Given the description of an element on the screen output the (x, y) to click on. 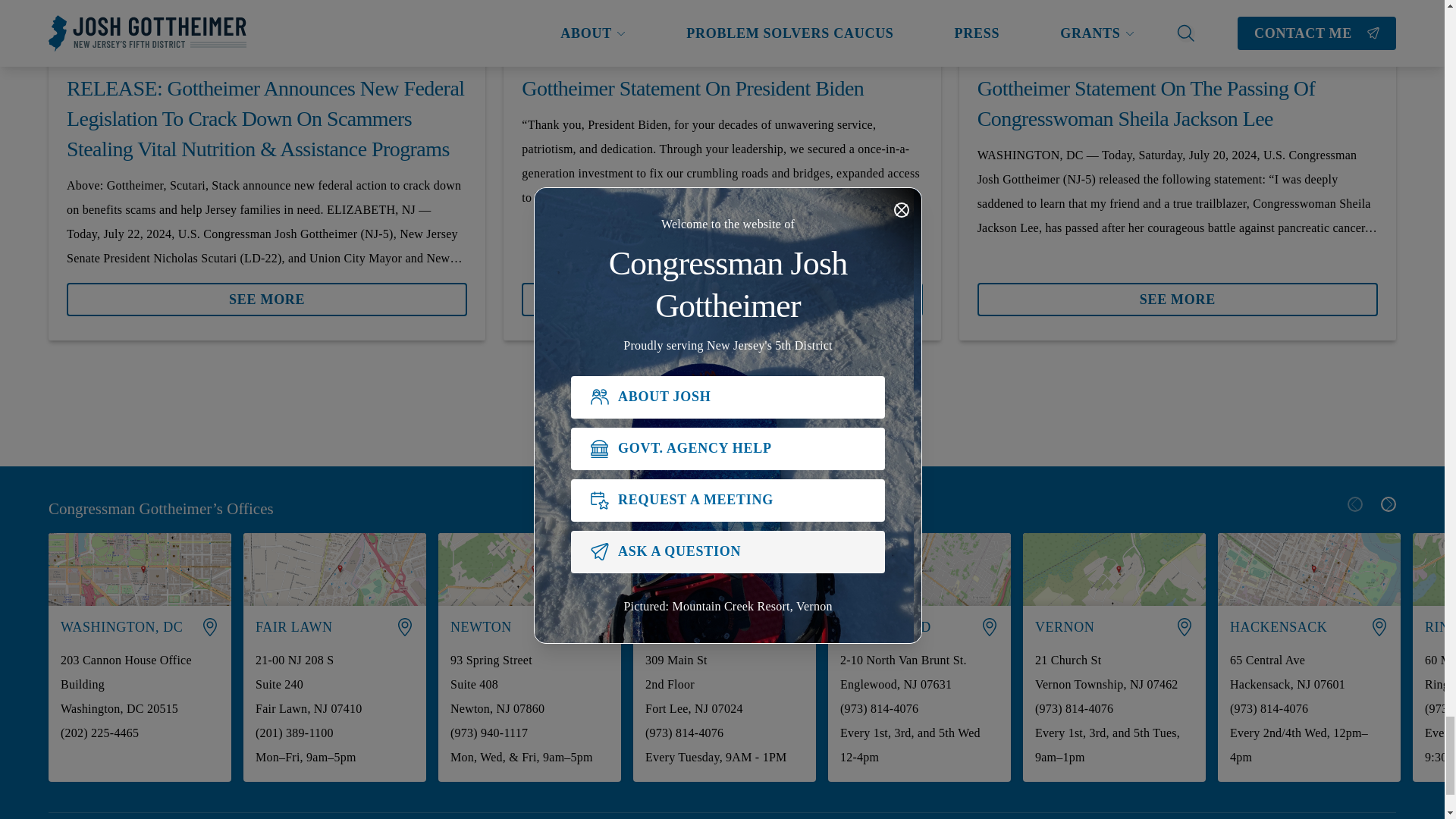
Gottheimer Statement on President Biden (721, 88)
Press (166, 54)
SEE MORE (266, 293)
